Given the description of an element on the screen output the (x, y) to click on. 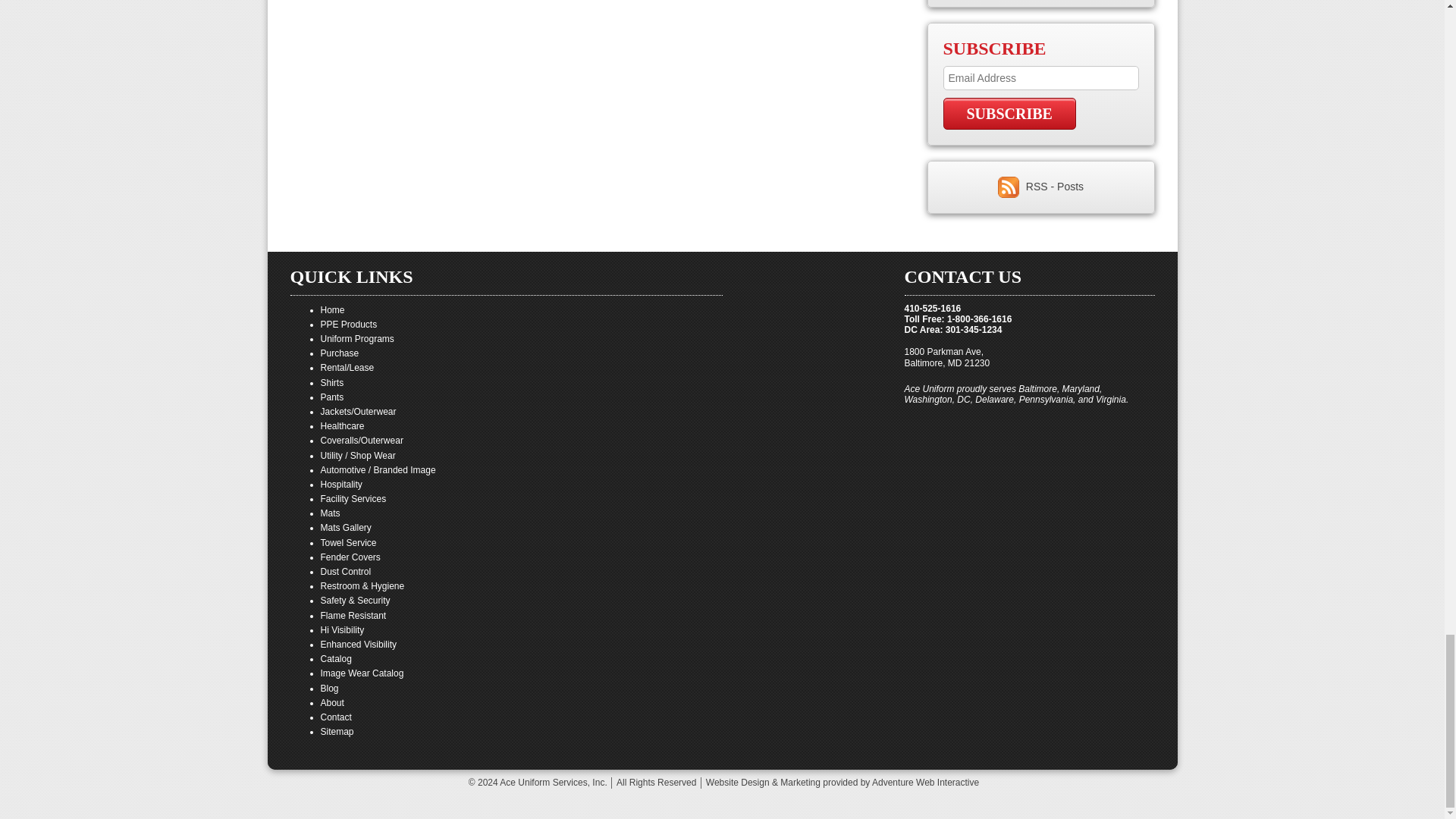
Subscribe to Posts (1010, 186)
Subscribe to Posts (1054, 186)
